Given the description of an element on the screen output the (x, y) to click on. 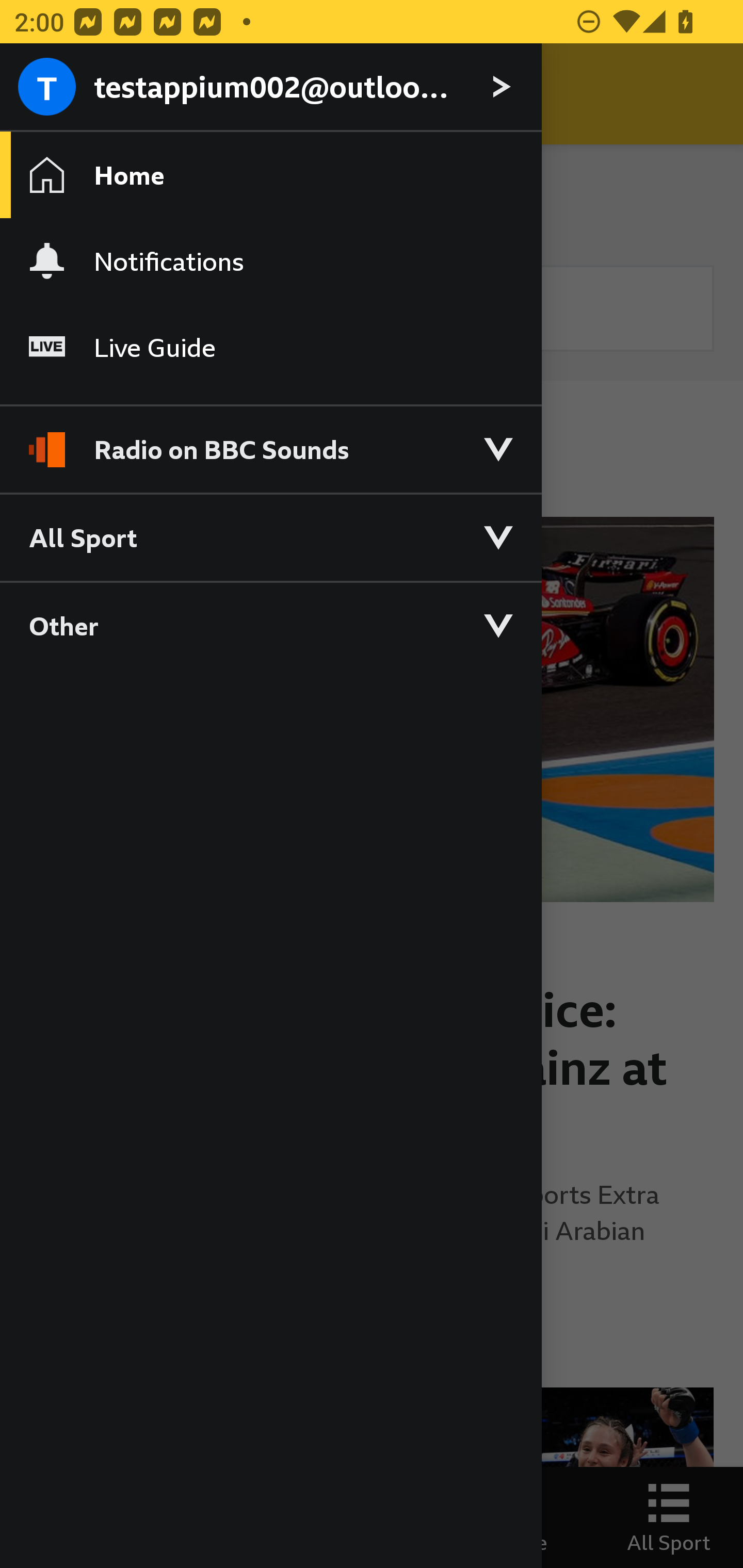
Close Menu (50, 93)
testappium002@outlook.com (270, 87)
Home (270, 174)
Notifications (270, 260)
Live Guide (270, 347)
Radio on BBC Sounds (270, 441)
All Sport (270, 536)
Other (270, 624)
